Given the description of an element on the screen output the (x, y) to click on. 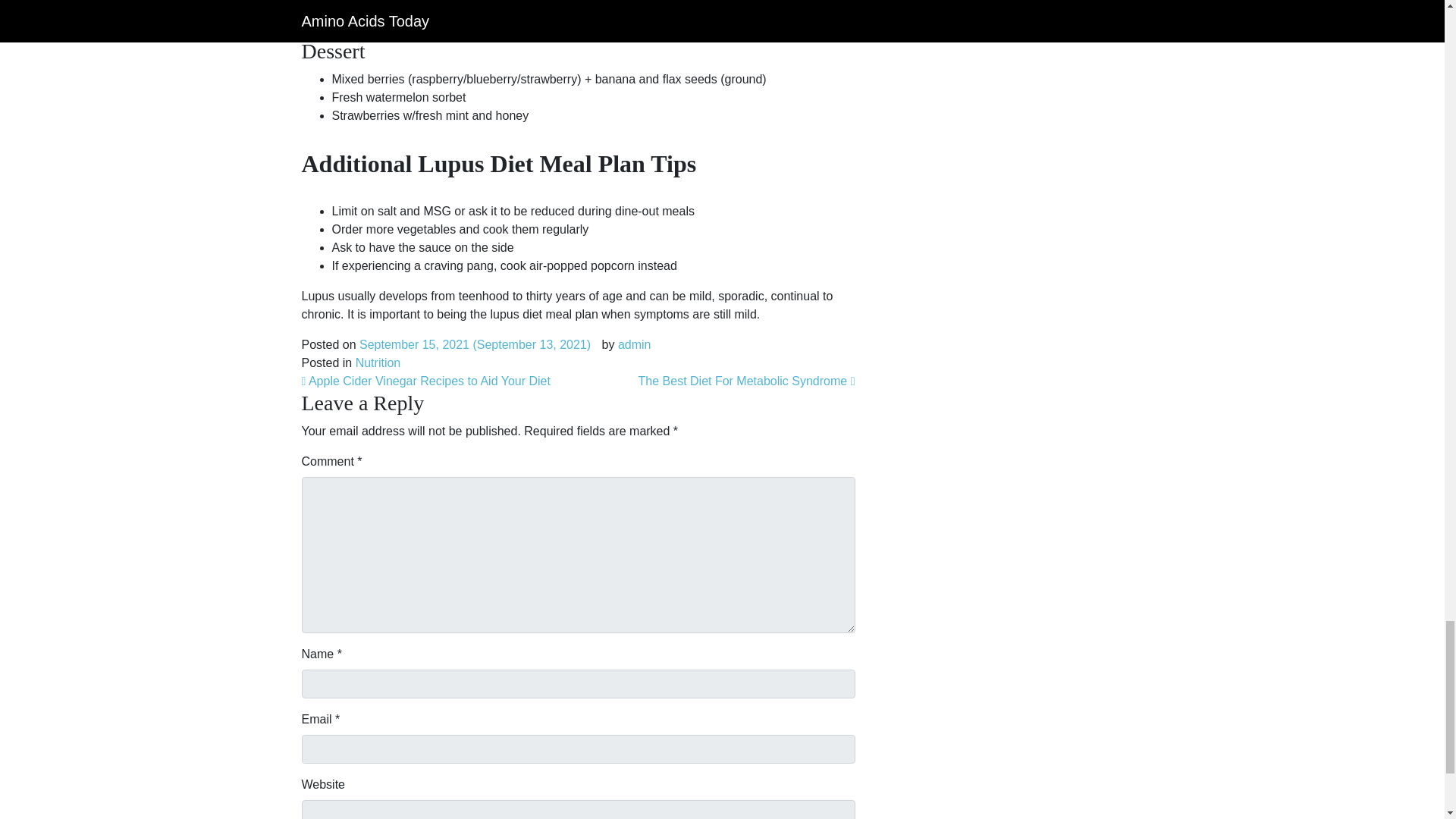
admin (633, 344)
 Apple Cider Vinegar Recipes to Aid Your Diet (425, 380)
Nutrition (378, 362)
The Best Diet For Metabolic Syndrome  (747, 380)
